Given the description of an element on the screen output the (x, y) to click on. 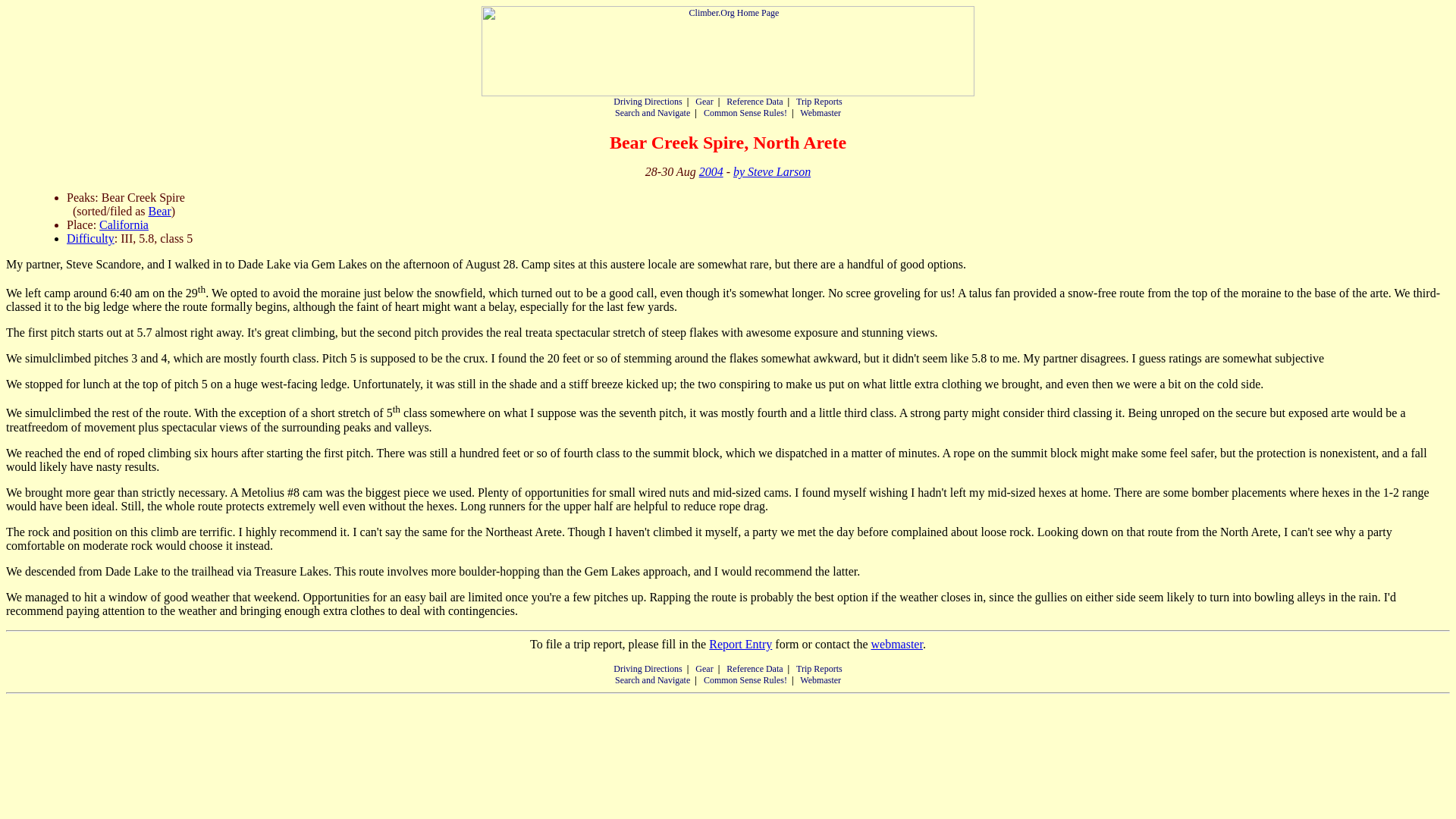
Gear (704, 668)
Search and Navigate (652, 112)
Driving Directions (646, 668)
Common Sense Rules! (745, 679)
Climber.Org Home Page (727, 50)
Difficulty (90, 237)
Trip Reports (819, 668)
Bear (159, 210)
Trip Reports (819, 101)
Report Entry (740, 644)
